Given the description of an element on the screen output the (x, y) to click on. 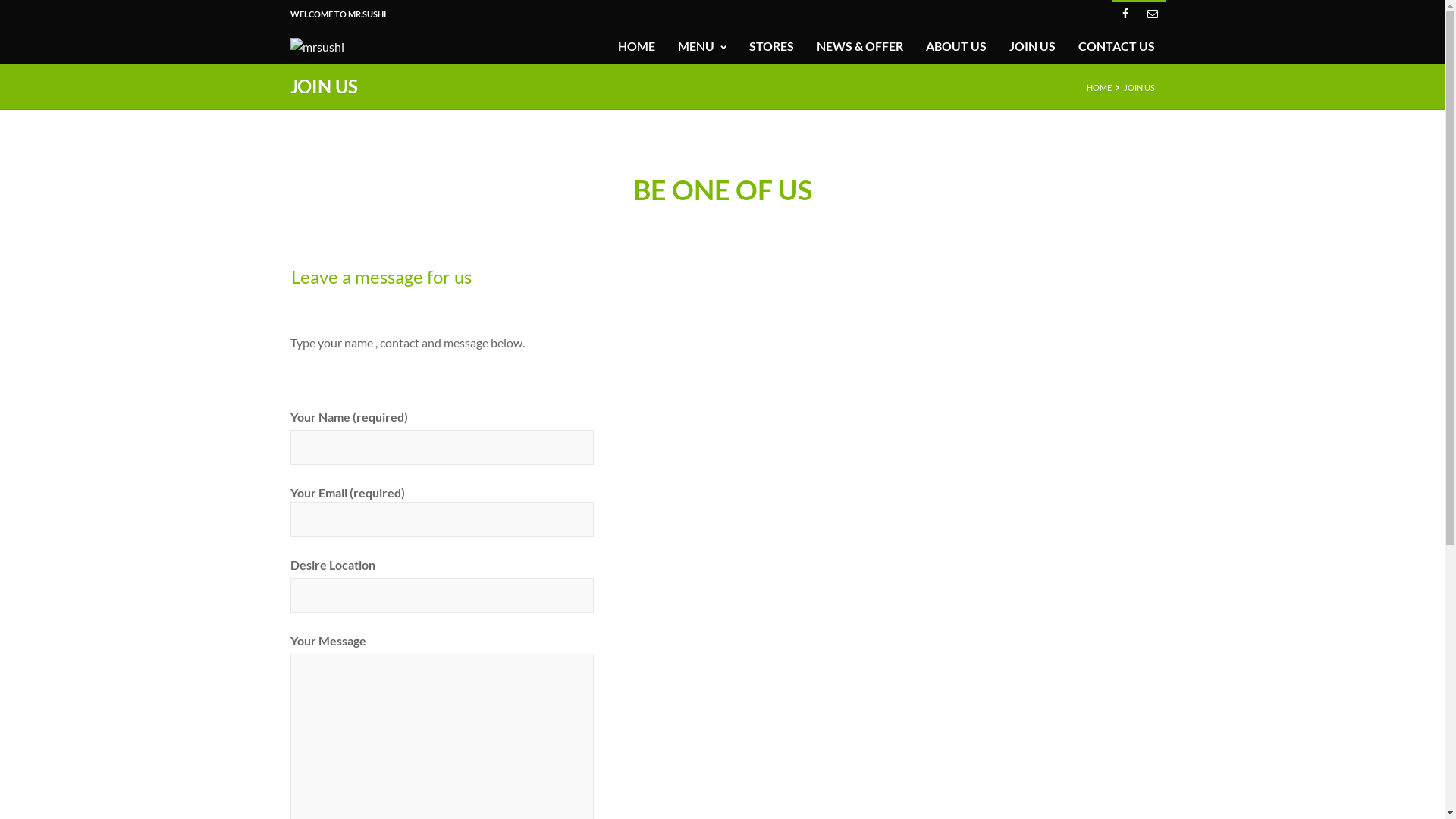
CONTACT US Element type: text (1116, 45)
ABOUT US Element type: text (955, 45)
JOIN US Element type: text (1031, 45)
NEWS & OFFER Element type: text (858, 45)
MENU Element type: text (701, 45)
STORES Element type: text (771, 45)
HOME Element type: text (1097, 87)
HOME Element type: text (635, 45)
